Given the description of an element on the screen output the (x, y) to click on. 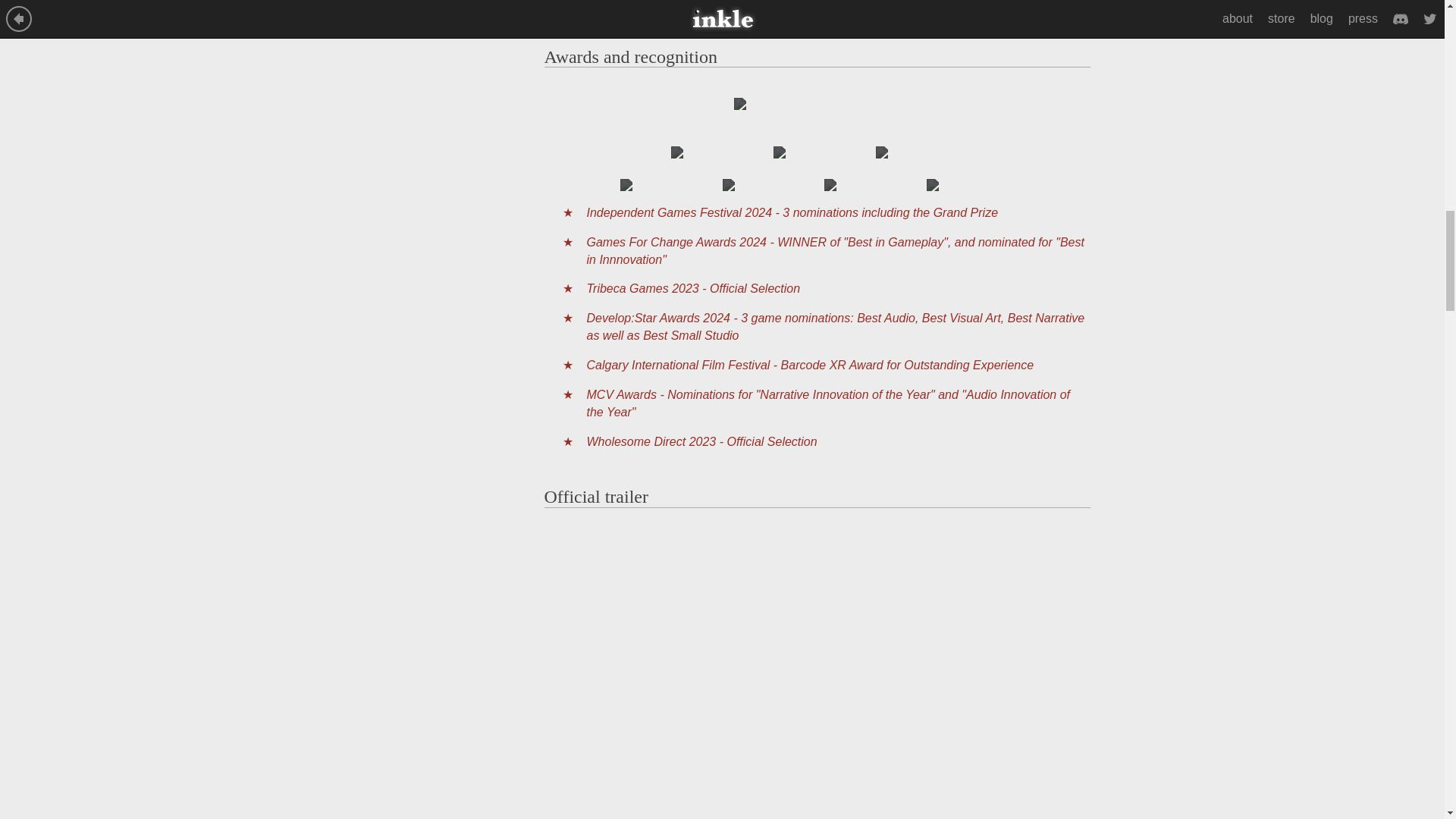
development blog (658, 3)
